Given the description of an element on the screen output the (x, y) to click on. 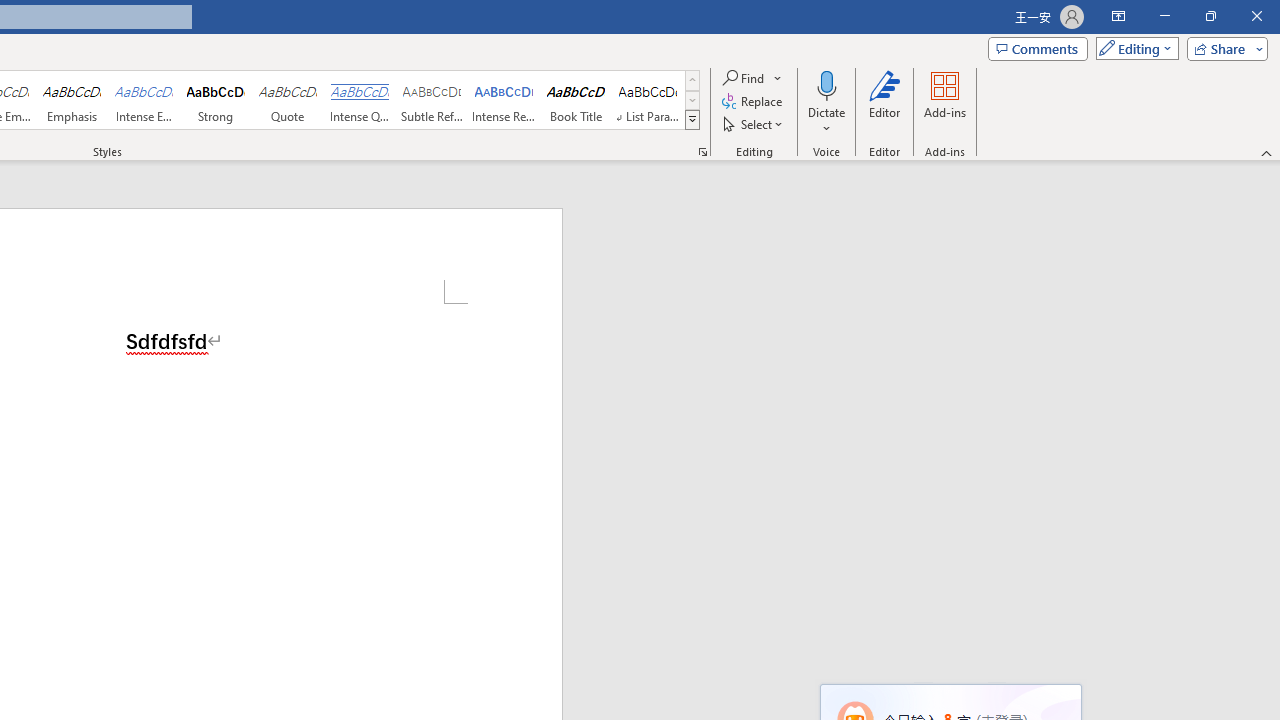
Emphasis (71, 100)
